Given the description of an element on the screen output the (x, y) to click on. 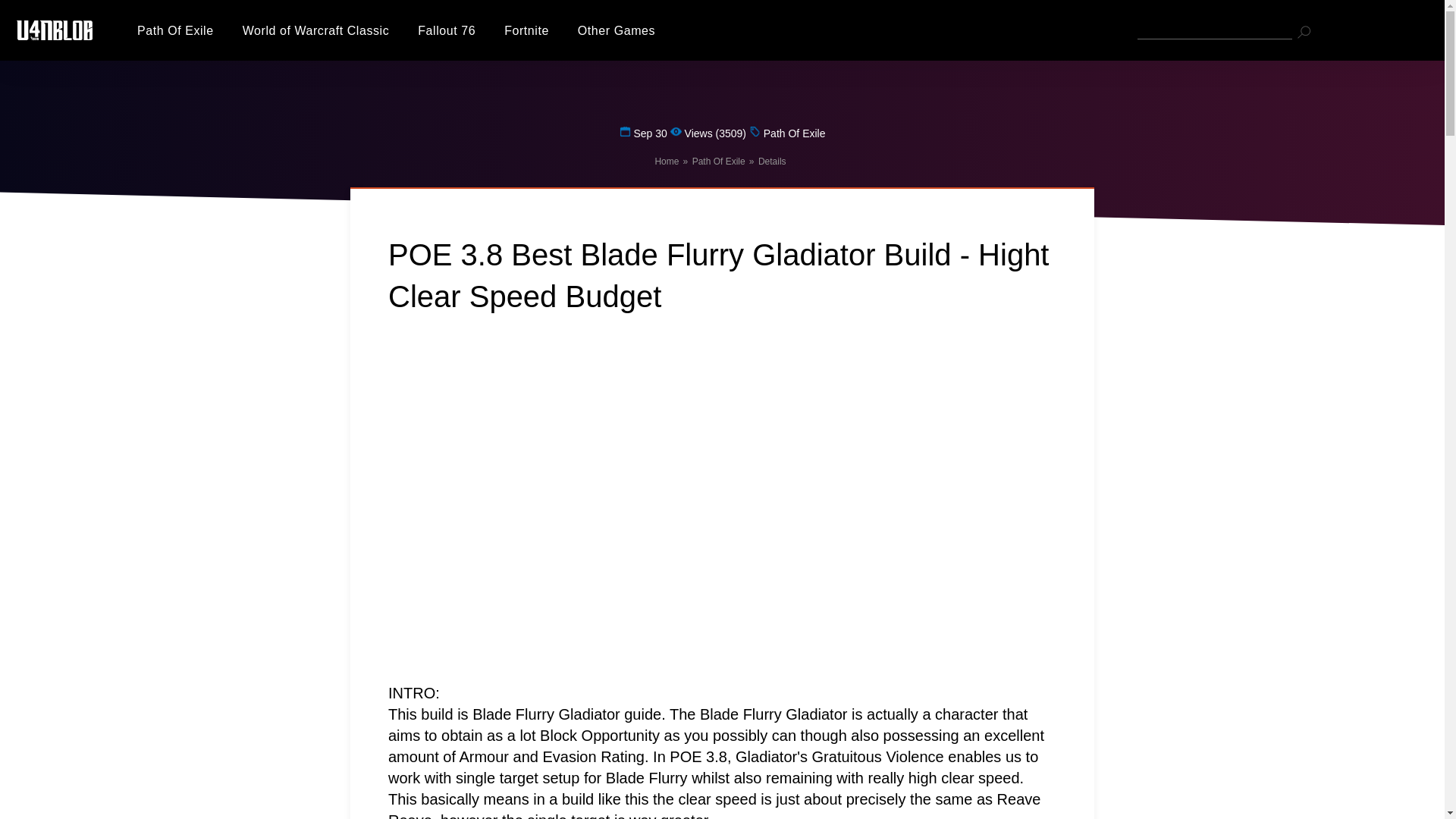
World of Warcraft Classic (316, 30)
Fortnite (525, 30)
Other Games (616, 30)
Path Of Exile (175, 30)
Fallout 76 (446, 30)
Home (665, 161)
Path Of Exile (719, 161)
Game News (616, 30)
Path Of Exile (719, 161)
